Given the description of an element on the screen output the (x, y) to click on. 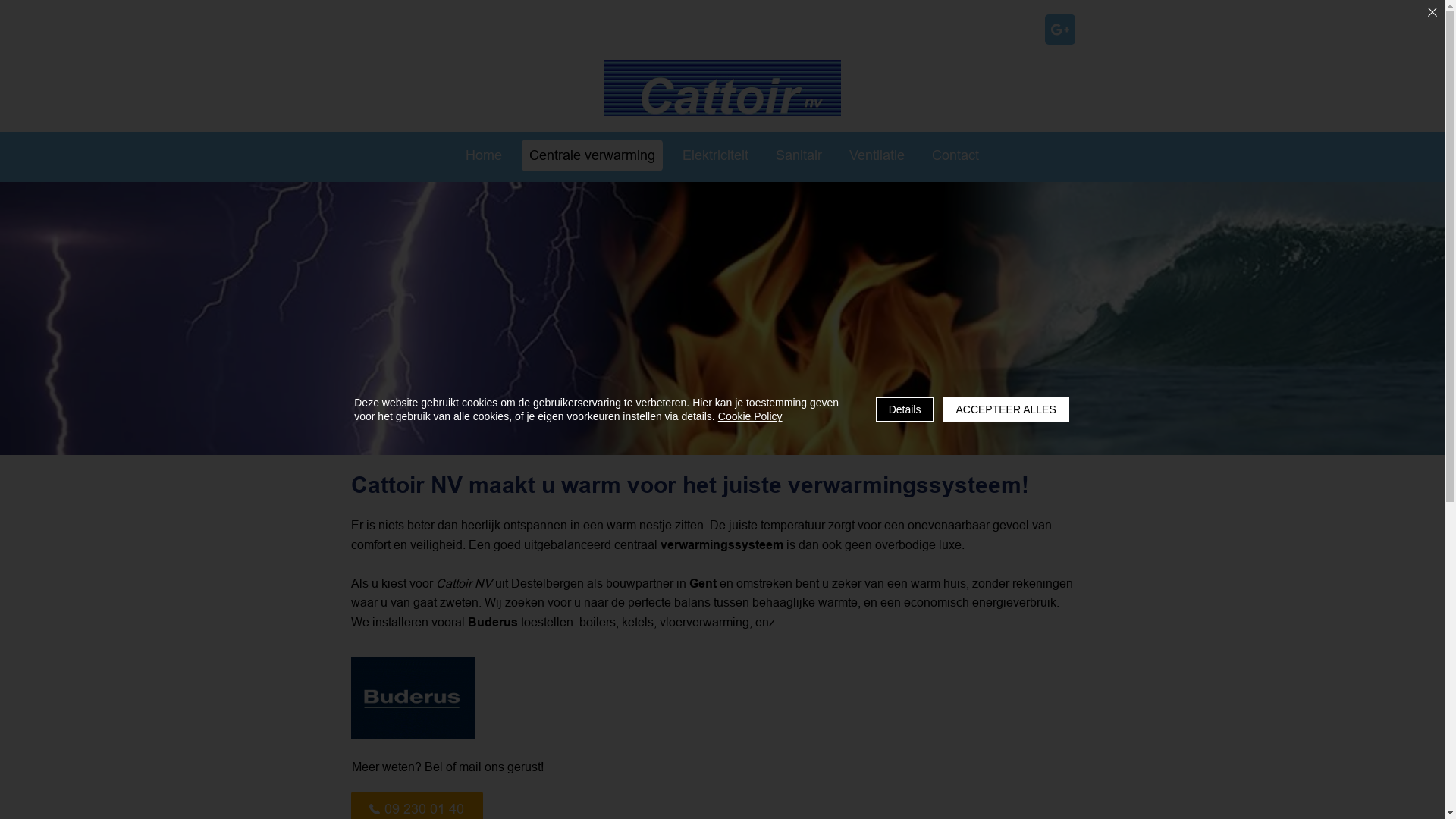
ACCEPTEER ALLES Element type: text (1005, 409)
Cookie Policy Element type: text (750, 416)
Centrale verwarming Element type: text (591, 155)
Elektriciteit Element type: text (715, 155)
Contact Element type: text (954, 155)
Details Element type: text (904, 409)
Ventilatie Element type: text (876, 155)
Cattoir Element type: hover (721, 87)
Home Element type: text (483, 155)
Sanitair Element type: text (797, 155)
